Given the description of an element on the screen output the (x, y) to click on. 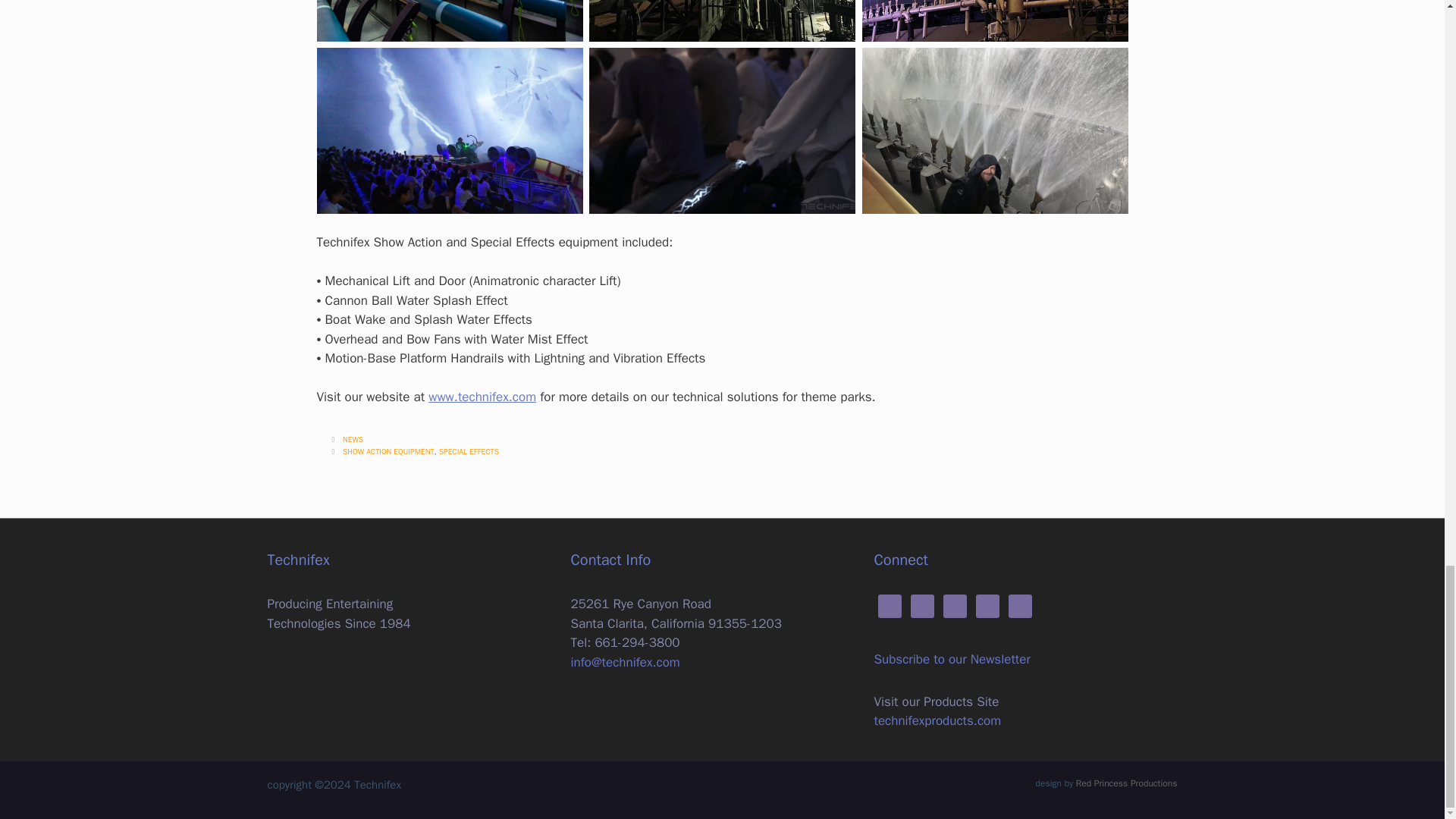
Red Princess Productions (1126, 783)
